Given the description of an element on the screen output the (x, y) to click on. 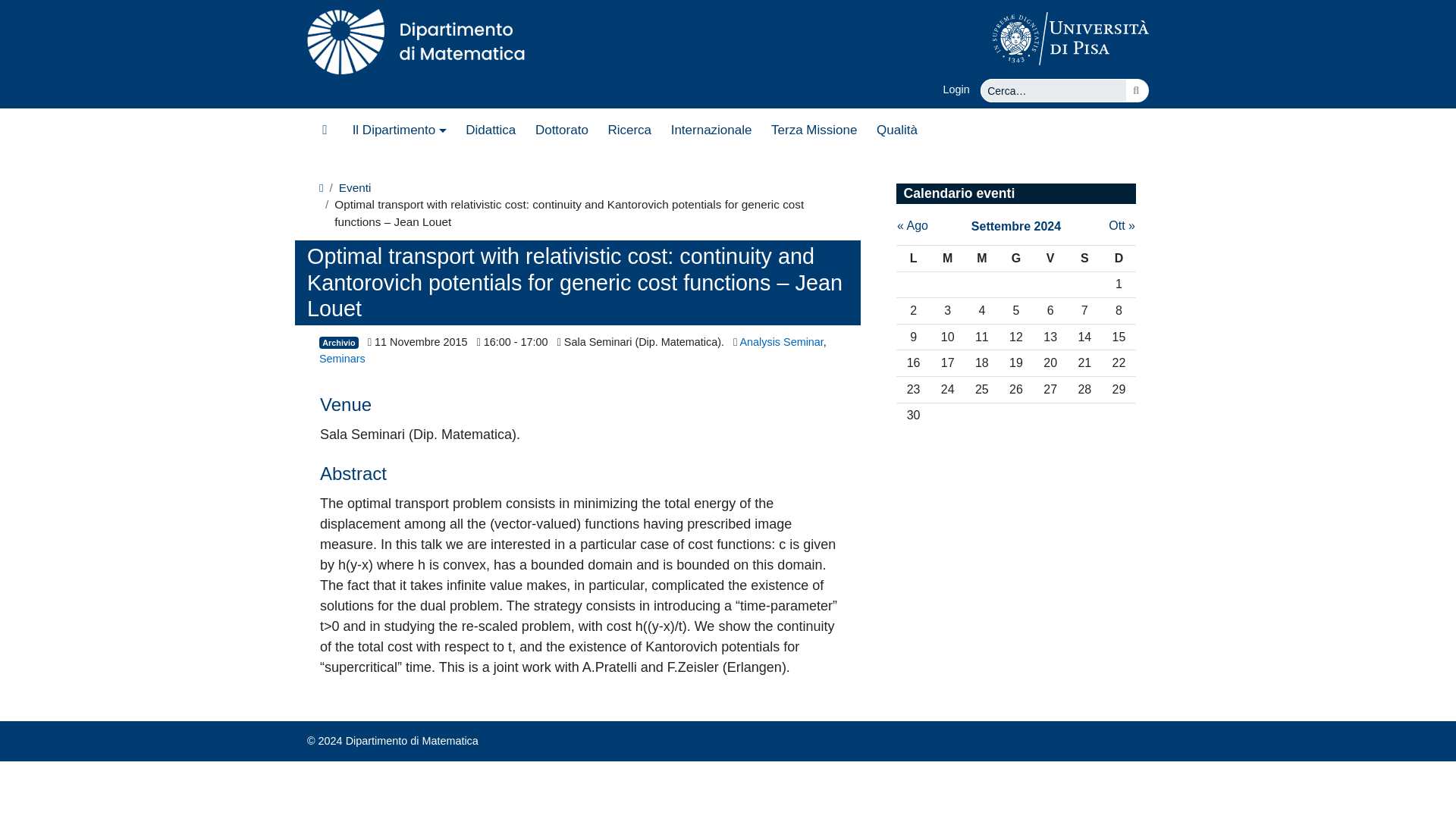
Didattica (490, 130)
Terza Missione (813, 130)
Dottorato (561, 130)
Login (962, 89)
Seminars (341, 358)
Eventi (355, 187)
Analysis Seminar (780, 341)
Il Dipartimento (399, 130)
Ricerca (629, 130)
Homepage (324, 130)
